Given the description of an element on the screen output the (x, y) to click on. 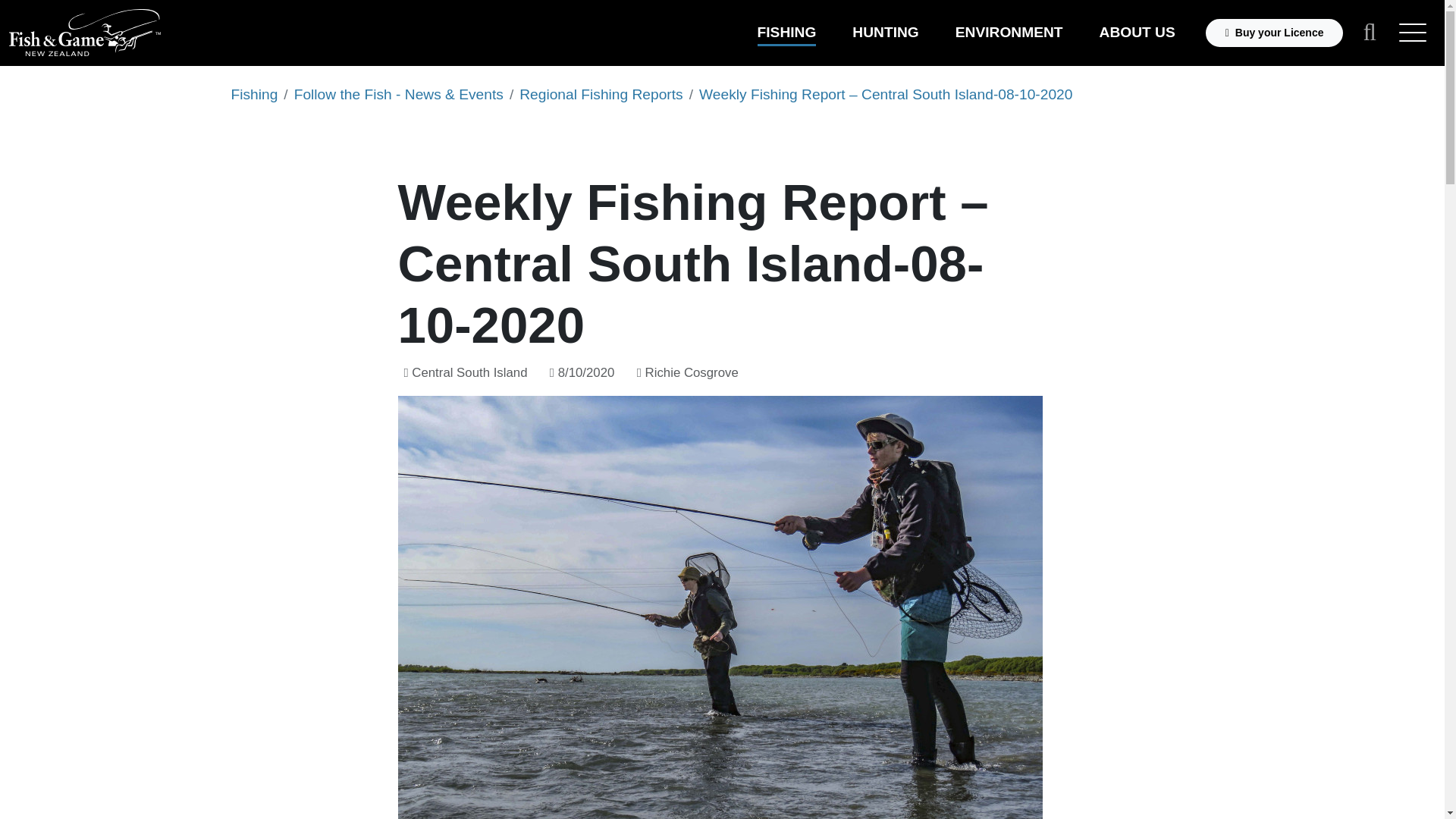
ABOUT US (1136, 32)
HUNTING (884, 32)
Regional Fishing Reports (600, 94)
Fishing (254, 94)
Buy your Licence (1274, 32)
FISHING (786, 32)
ENVIRONMENT (1008, 32)
